Given the description of an element on the screen output the (x, y) to click on. 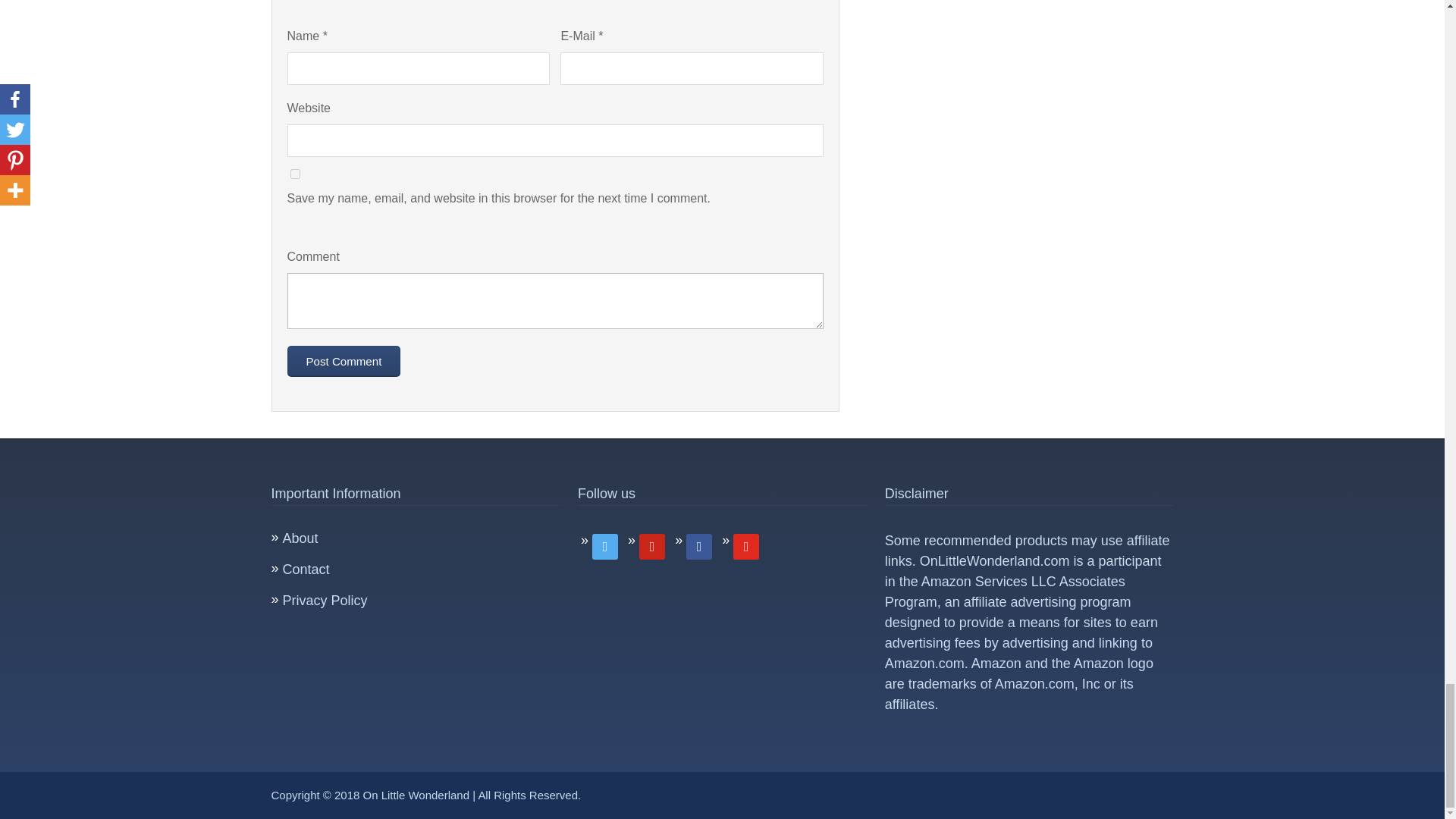
Instagram (698, 544)
Twitter (652, 544)
Facebook (604, 544)
Post Comment (343, 360)
yes (294, 173)
